Given the description of an element on the screen output the (x, y) to click on. 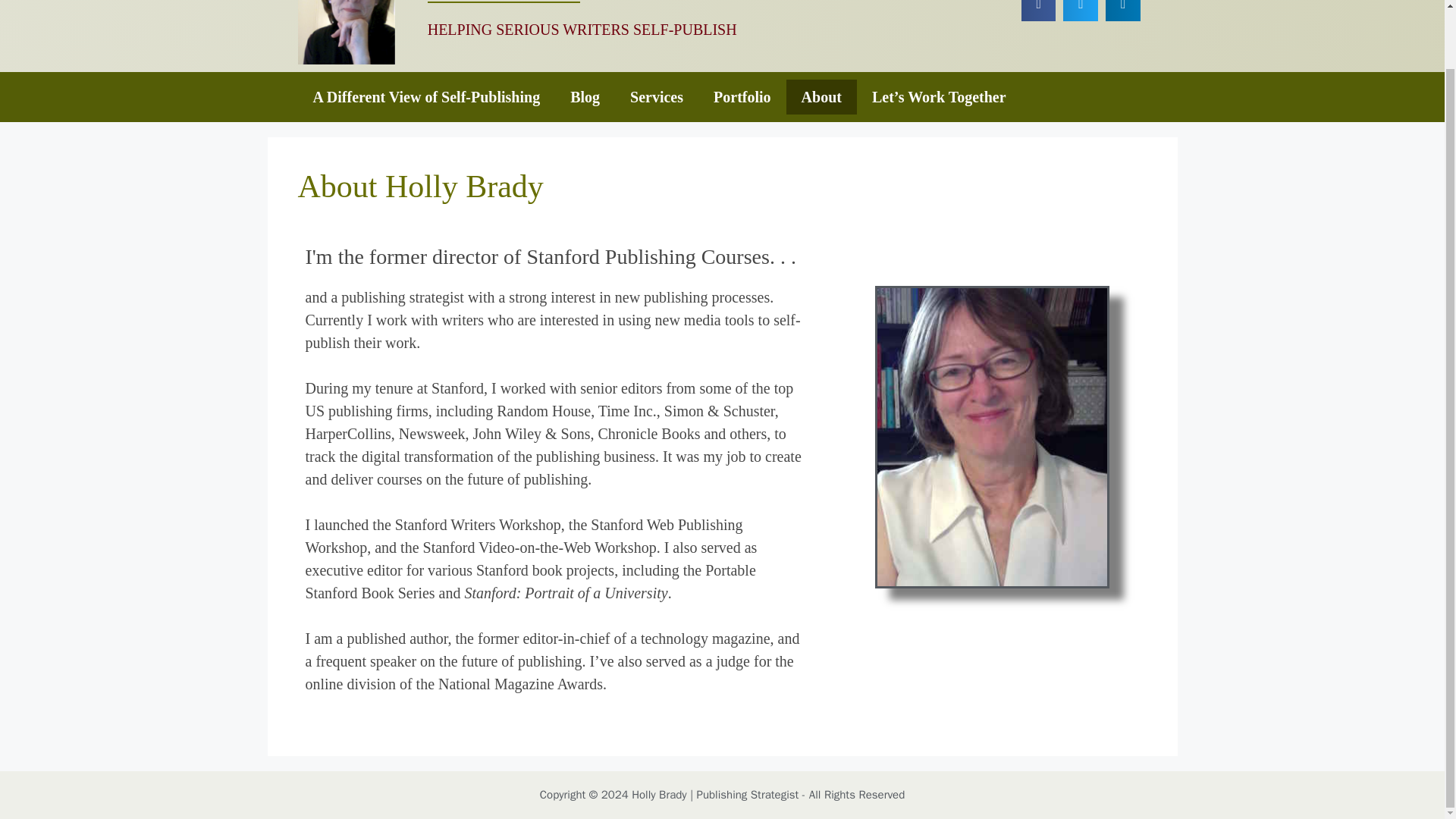
Portfolio (742, 96)
Blog (584, 96)
About (821, 96)
A Different View of Self-Publishing (425, 96)
Services (656, 96)
